Given the description of an element on the screen output the (x, y) to click on. 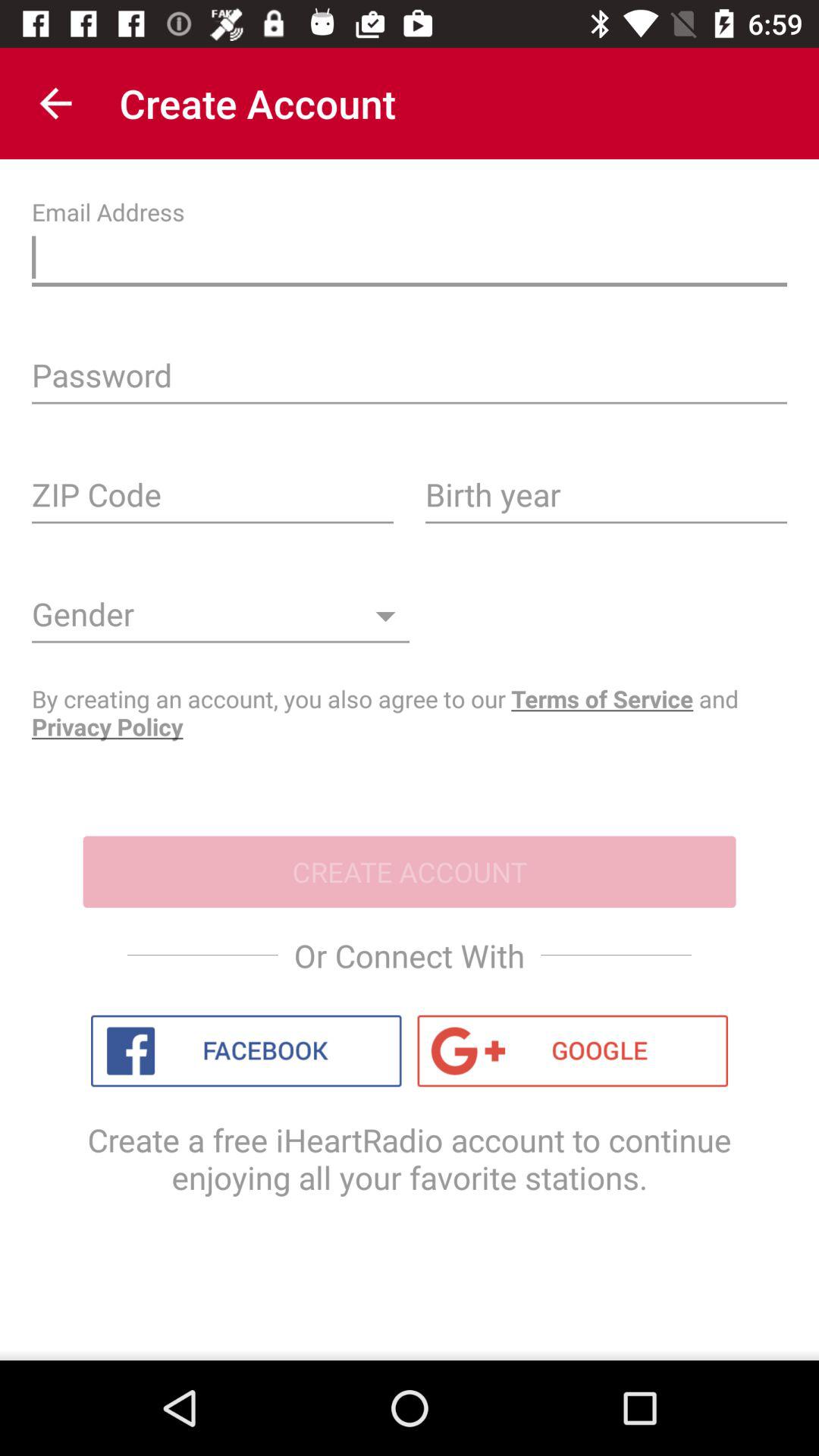
enter email (409, 261)
